Given the description of an element on the screen output the (x, y) to click on. 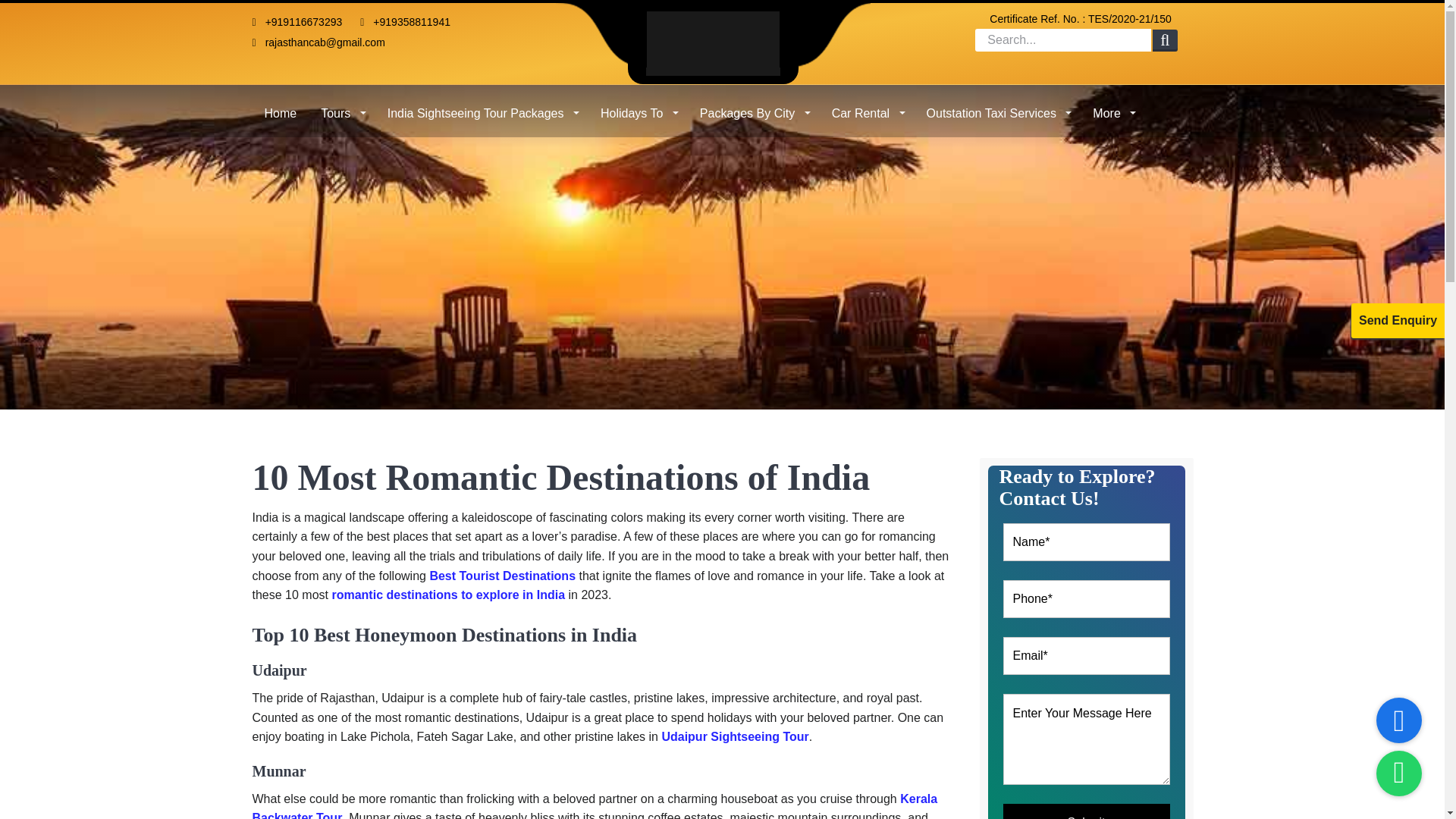
Search (1164, 40)
Holidays To (637, 108)
Submit (1086, 811)
Call Me (1398, 719)
India Sightseeing Tour Packages (481, 108)
Whatsapp (1398, 773)
Home (279, 108)
Search for: (1063, 39)
Tours (341, 108)
